Given the description of an element on the screen output the (x, y) to click on. 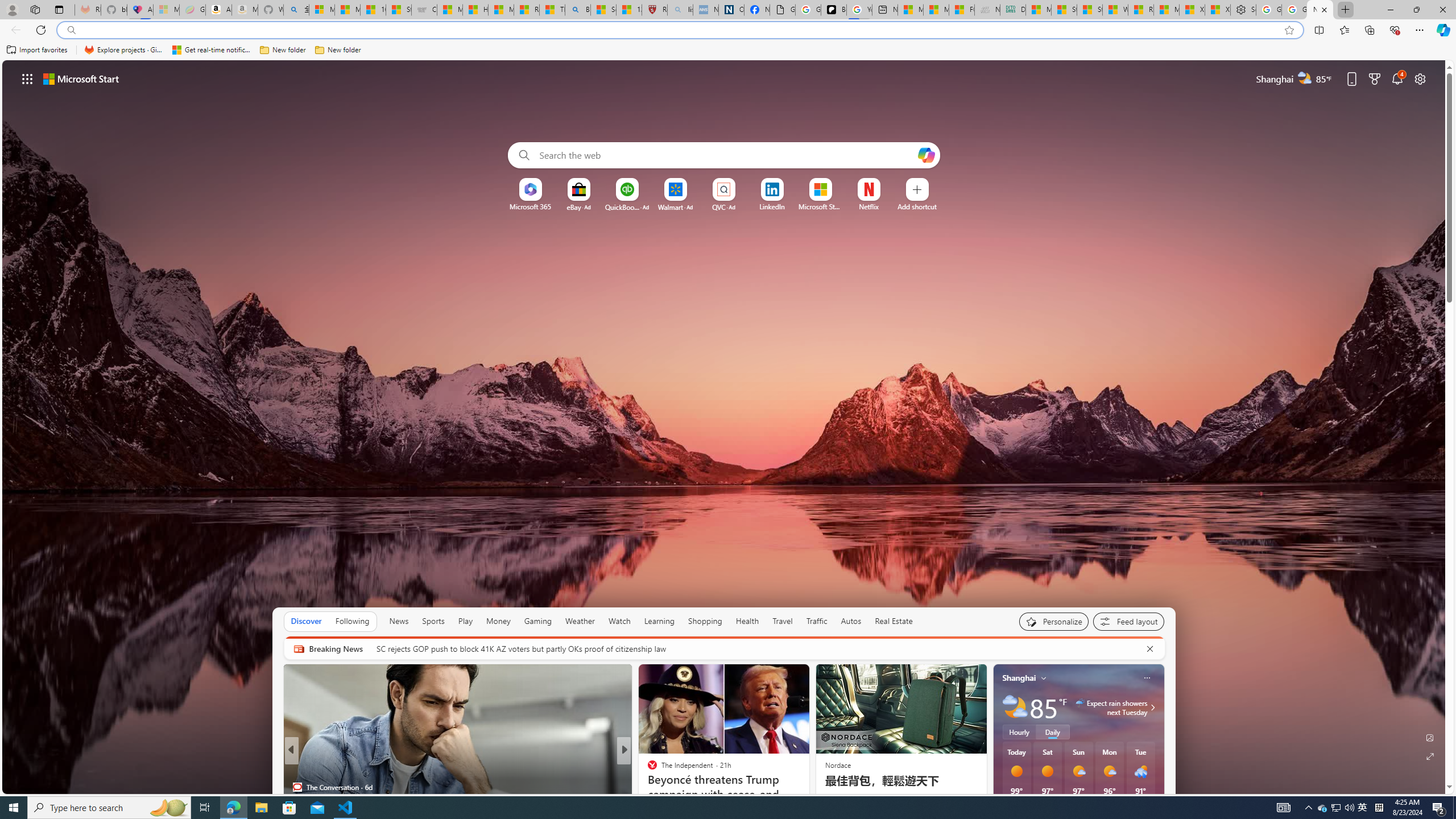
Mostly sunny (1109, 771)
Favorites bar (728, 49)
CNBC (647, 768)
